Given the description of an element on the screen output the (x, y) to click on. 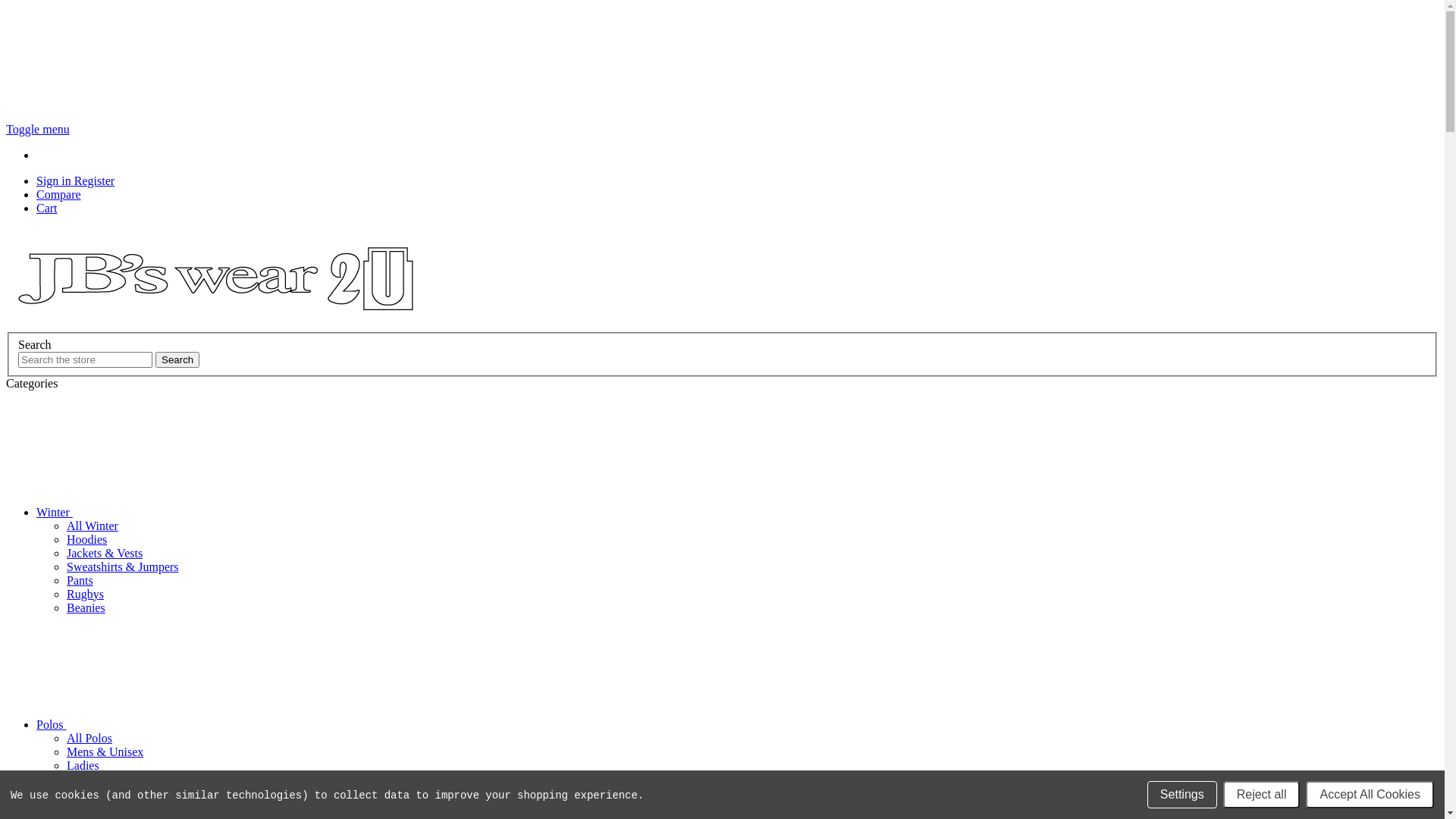
Rugbys Element type: text (84, 593)
Settings Element type: text (1182, 794)
Toggle menu Element type: text (37, 128)
Jackets & Vests Element type: text (104, 552)
Categories Element type: text (31, 382)
Ladies Element type: text (82, 765)
Search Element type: text (177, 359)
Beanies Element type: text (85, 607)
Accept All Cookies Element type: text (1369, 794)
Cart Element type: text (46, 207)
Sign in Element type: text (55, 180)
All Polos Element type: text (89, 737)
Compare Element type: text (58, 194)
Pants Element type: text (79, 580)
Register Element type: text (94, 180)
Reject all Element type: text (1261, 794)
Polos Element type: text (165, 724)
Sweatshirts & Jumpers Element type: text (122, 566)
Kids Element type: text (77, 778)
Hoodies Element type: text (86, 539)
Mens & Unisex Element type: text (104, 751)
Jb's Wear 2U Element type: hover (214, 278)
All Winter Element type: text (92, 525)
Winter Element type: text (168, 511)
